Given the description of an element on the screen output the (x, y) to click on. 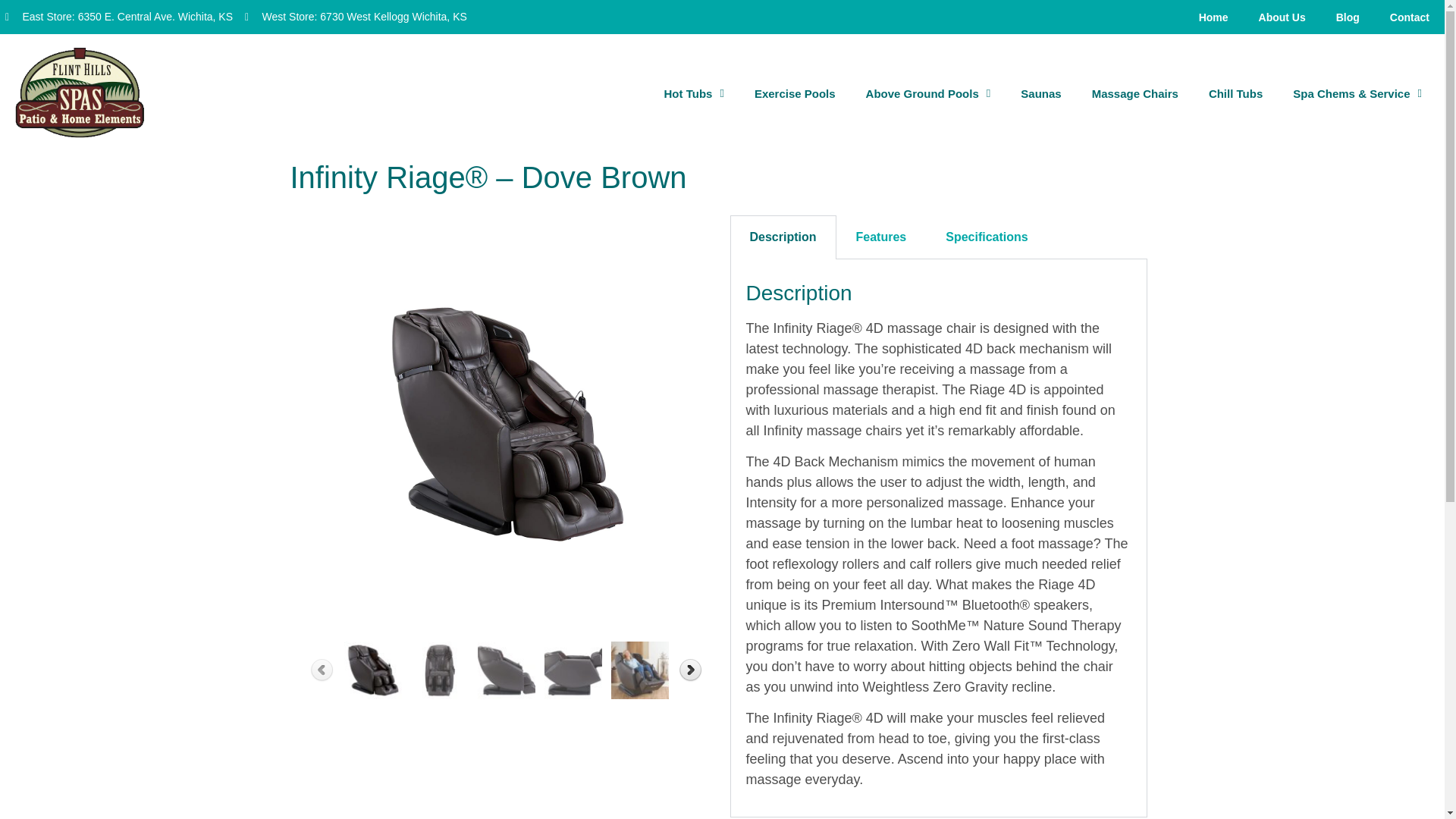
East Store: 6350 E. Central Ave. Wichita, KS (118, 17)
About Us (1281, 16)
Above Ground Pools (928, 93)
Home (1213, 16)
Exercise Pools (794, 93)
Hot Tubs (694, 93)
Blog (1347, 16)
West Store: 6730 West Kellogg Wichita, KS (355, 17)
